Given the description of an element on the screen output the (x, y) to click on. 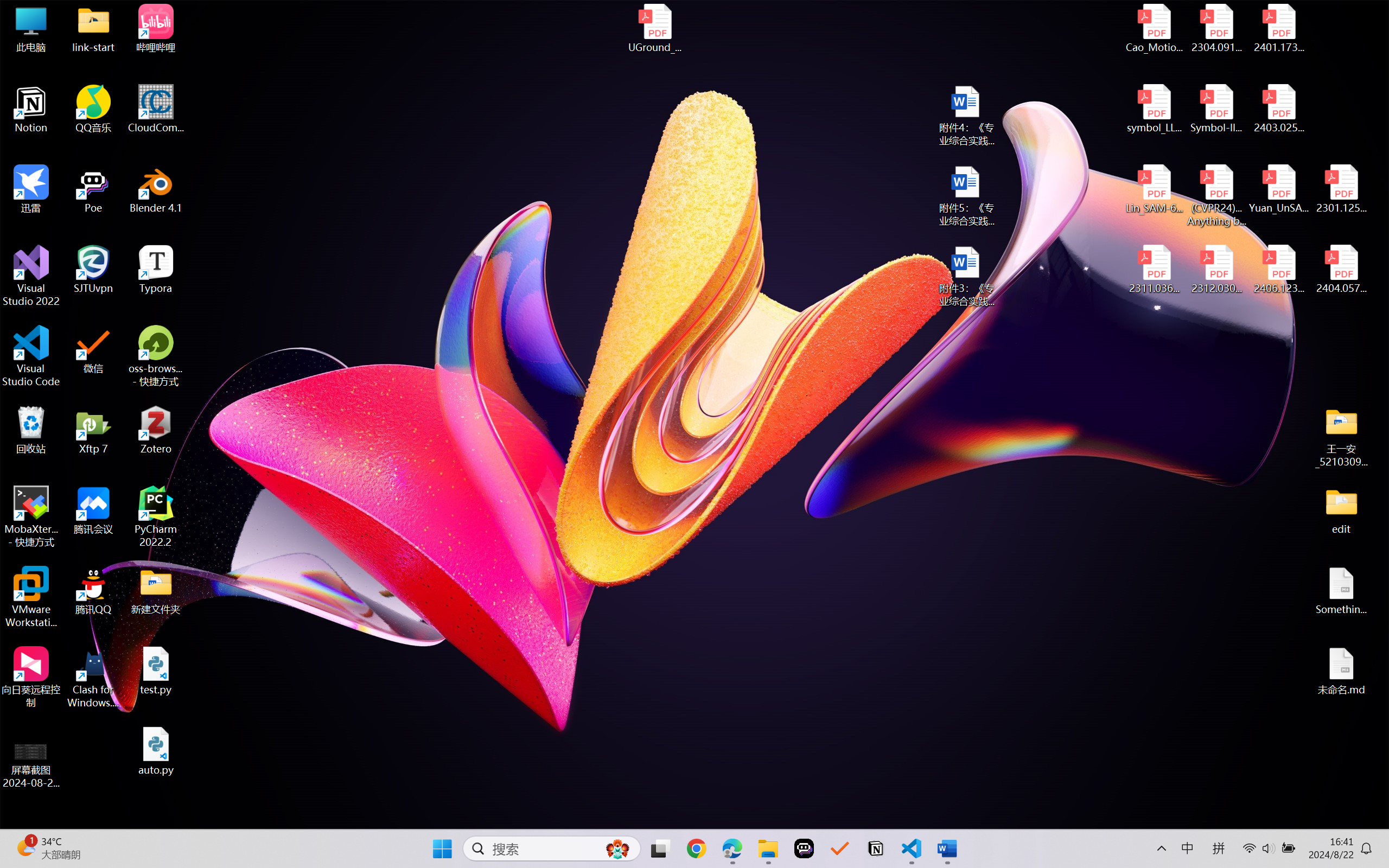
UGround_paper.pdf (654, 28)
2312.03032v2.pdf (1216, 269)
CloudCompare (156, 109)
PyCharm 2022.2 (156, 516)
2304.09121v3.pdf (1216, 28)
VMware Workstation Pro (31, 597)
